Given the description of an element on the screen output the (x, y) to click on. 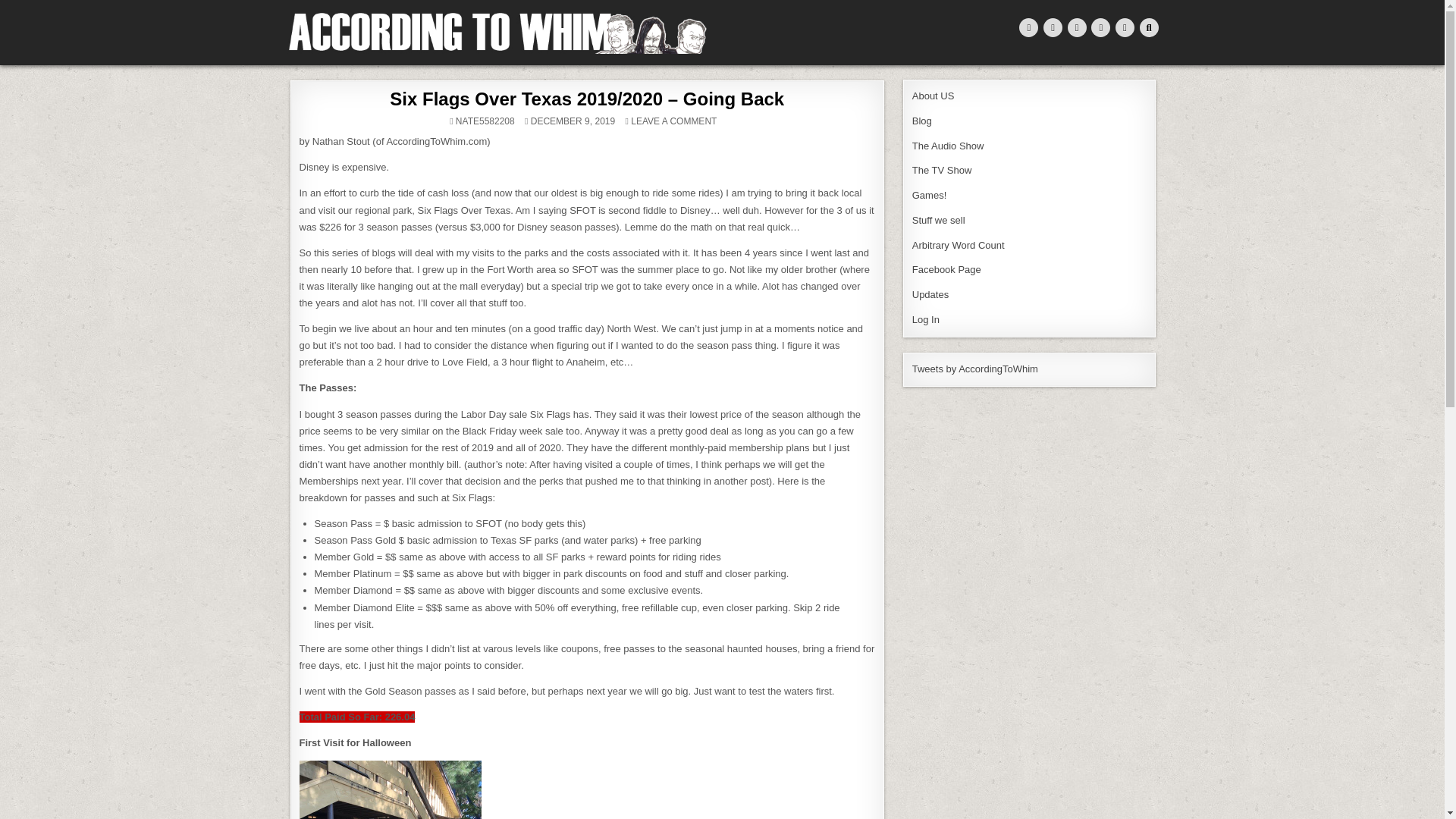
About US (933, 95)
Log In (925, 319)
Blog (921, 120)
Stuff we sell (938, 220)
The TV Show (942, 170)
According To Whim (364, 61)
Updates (930, 294)
Tweets by AccordingToWhim (975, 368)
Arbitrary Word Count (958, 244)
Games! (929, 194)
The Audio Show (948, 144)
Facebook Page (946, 269)
NATE5582208 (485, 121)
